Given the description of an element on the screen output the (x, y) to click on. 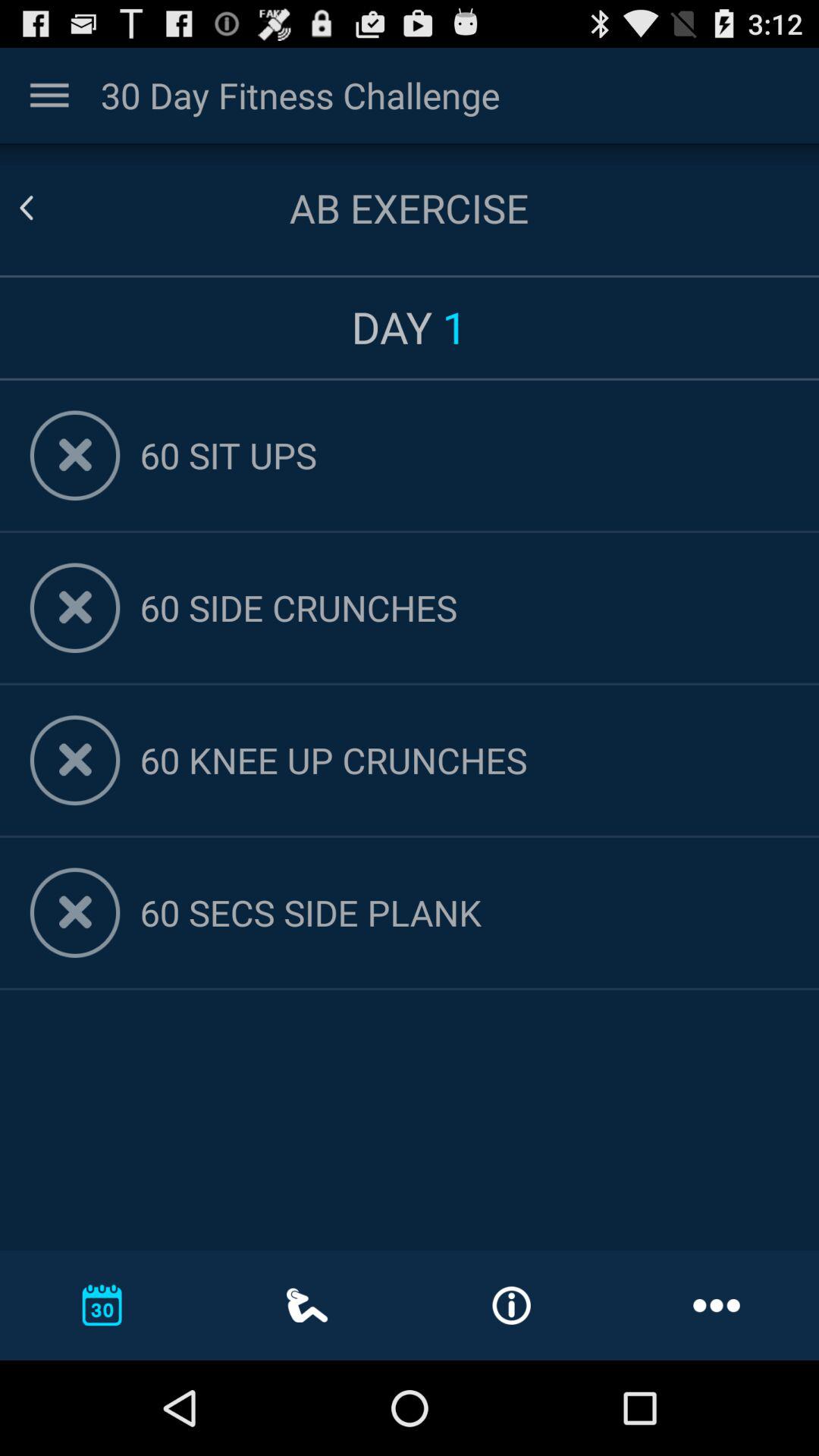
swipe to the 60 knee up icon (463, 759)
